Given the description of an element on the screen output the (x, y) to click on. 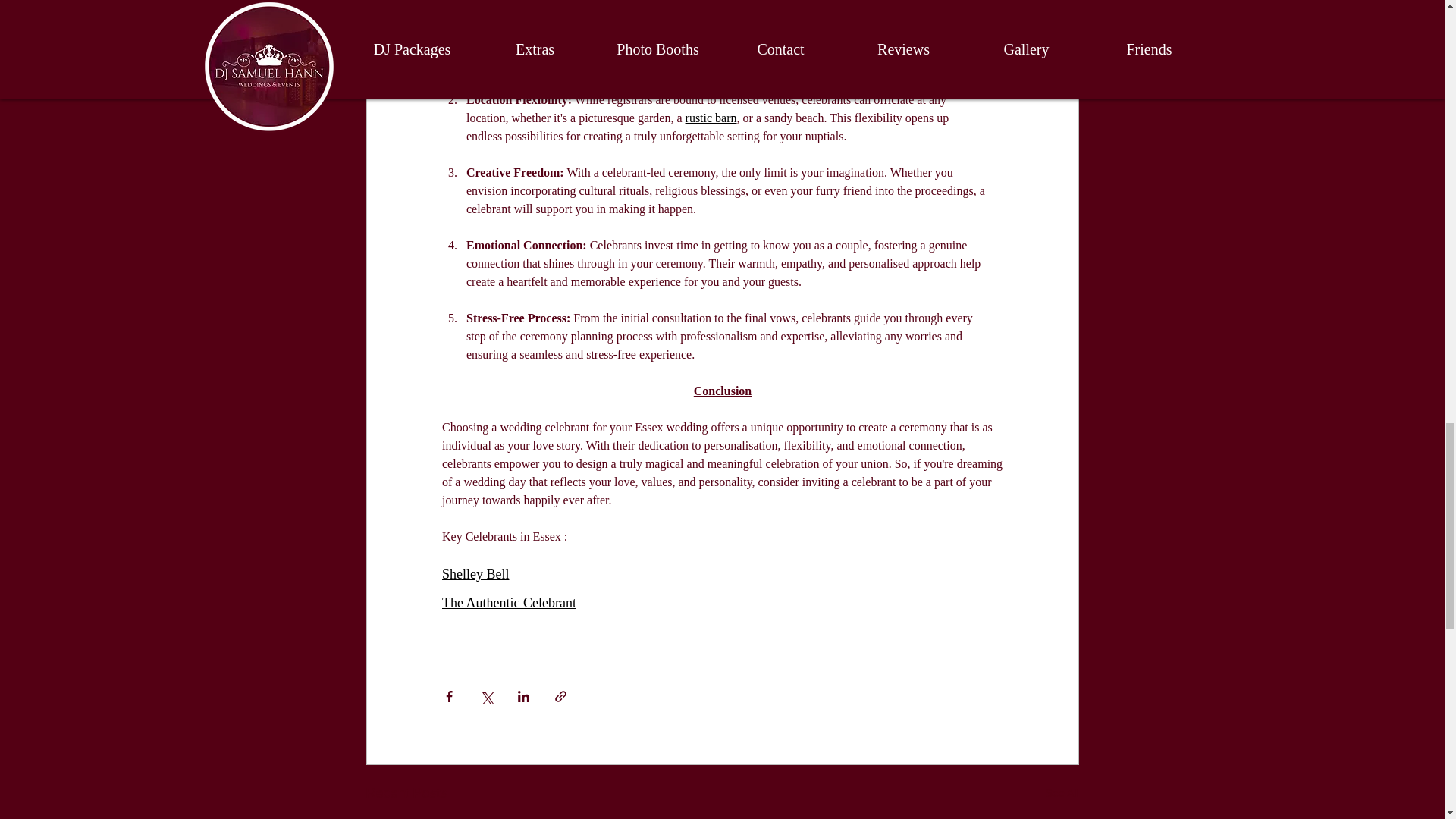
rustic barn (710, 117)
See All (1061, 793)
The Authentic Celebrant (508, 599)
Shelley Bell (474, 574)
